Given the description of an element on the screen output the (x, y) to click on. 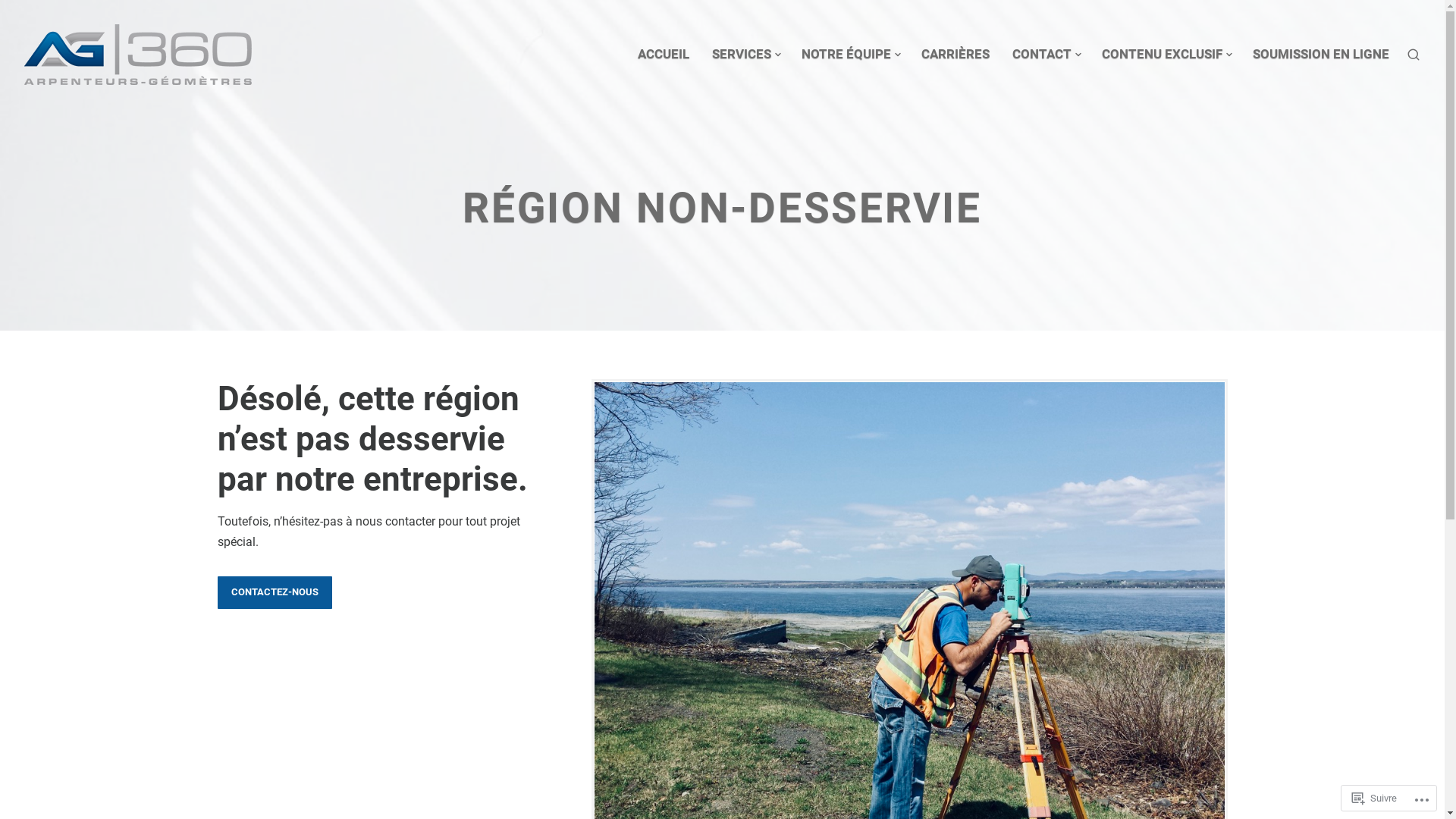
Suivre Element type: text (1374, 797)
CONTACT Element type: text (1045, 54)
CONTENU EXCLUSIF Element type: text (1165, 54)
SERVICES Element type: text (745, 54)
CONTACTEZ-NOUS Element type: text (274, 592)
SOUMISSION EN LIGNE Element type: text (1320, 54)
ACCUEIL Element type: text (663, 54)
